Given the description of an element on the screen output the (x, y) to click on. 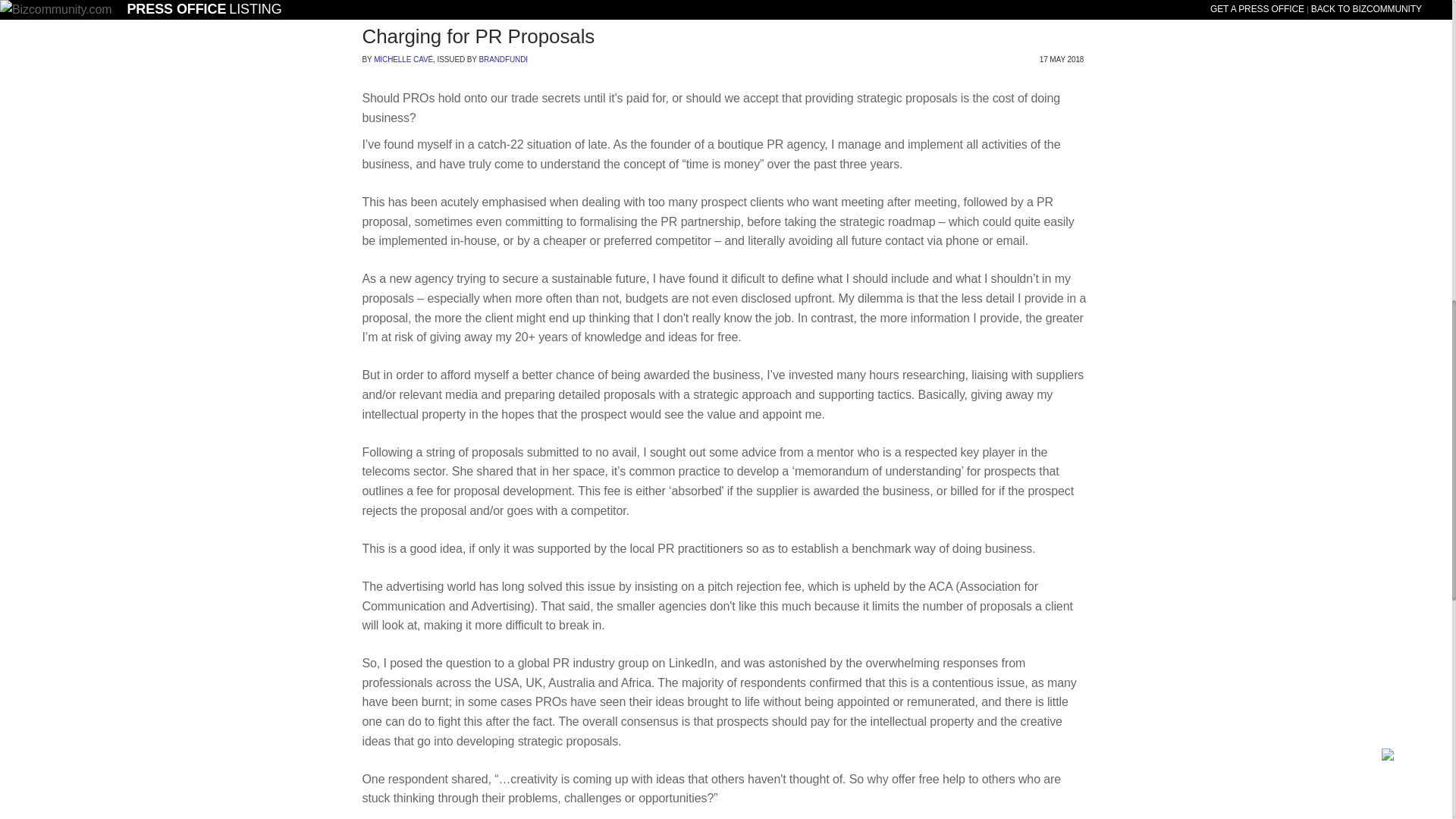
BRANDFUNDI (503, 59)
